Given the description of an element on the screen output the (x, y) to click on. 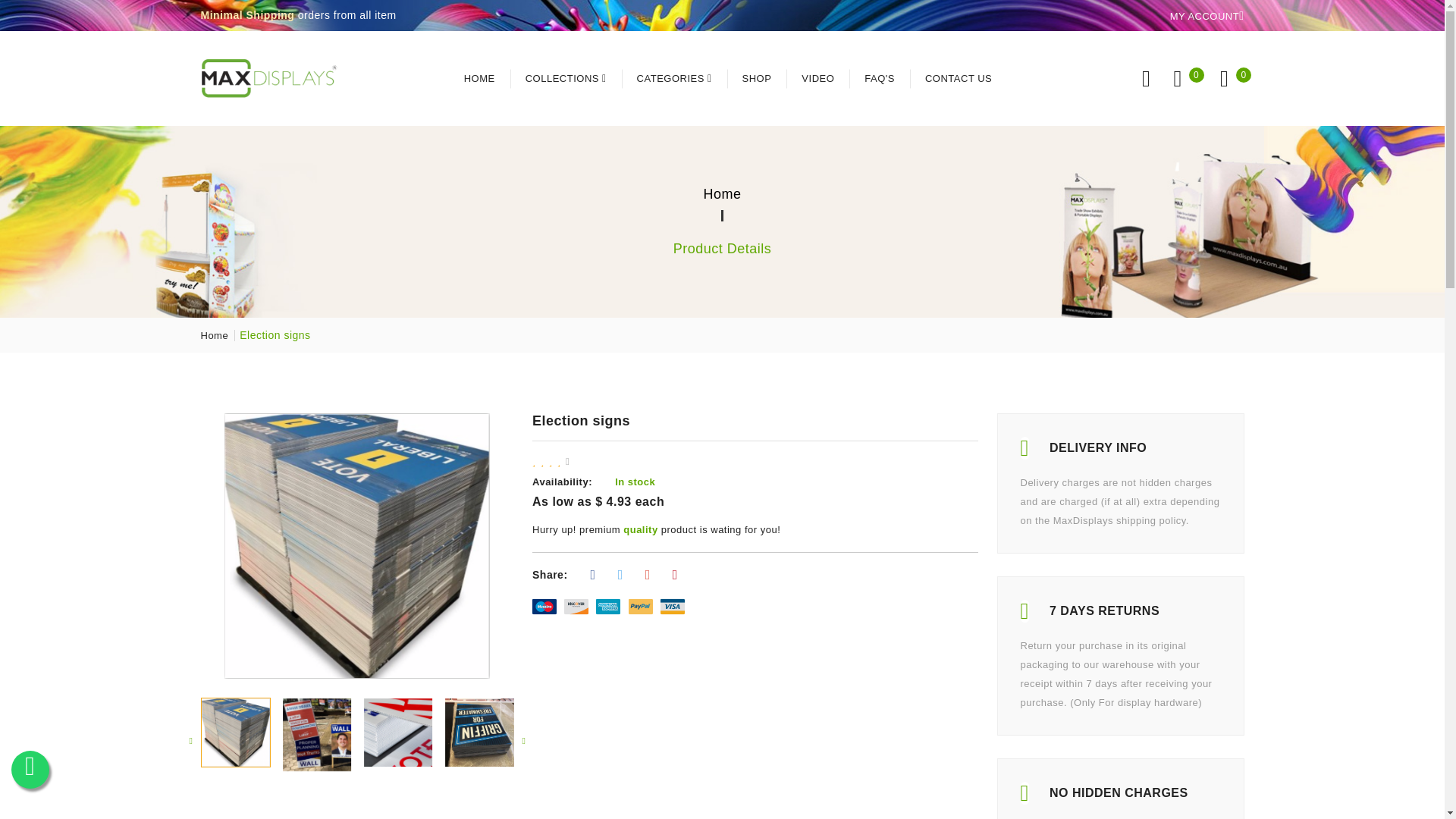
CATEGORIES (673, 78)
COLLECTIONS (566, 78)
